Given the description of an element on the screen output the (x, y) to click on. 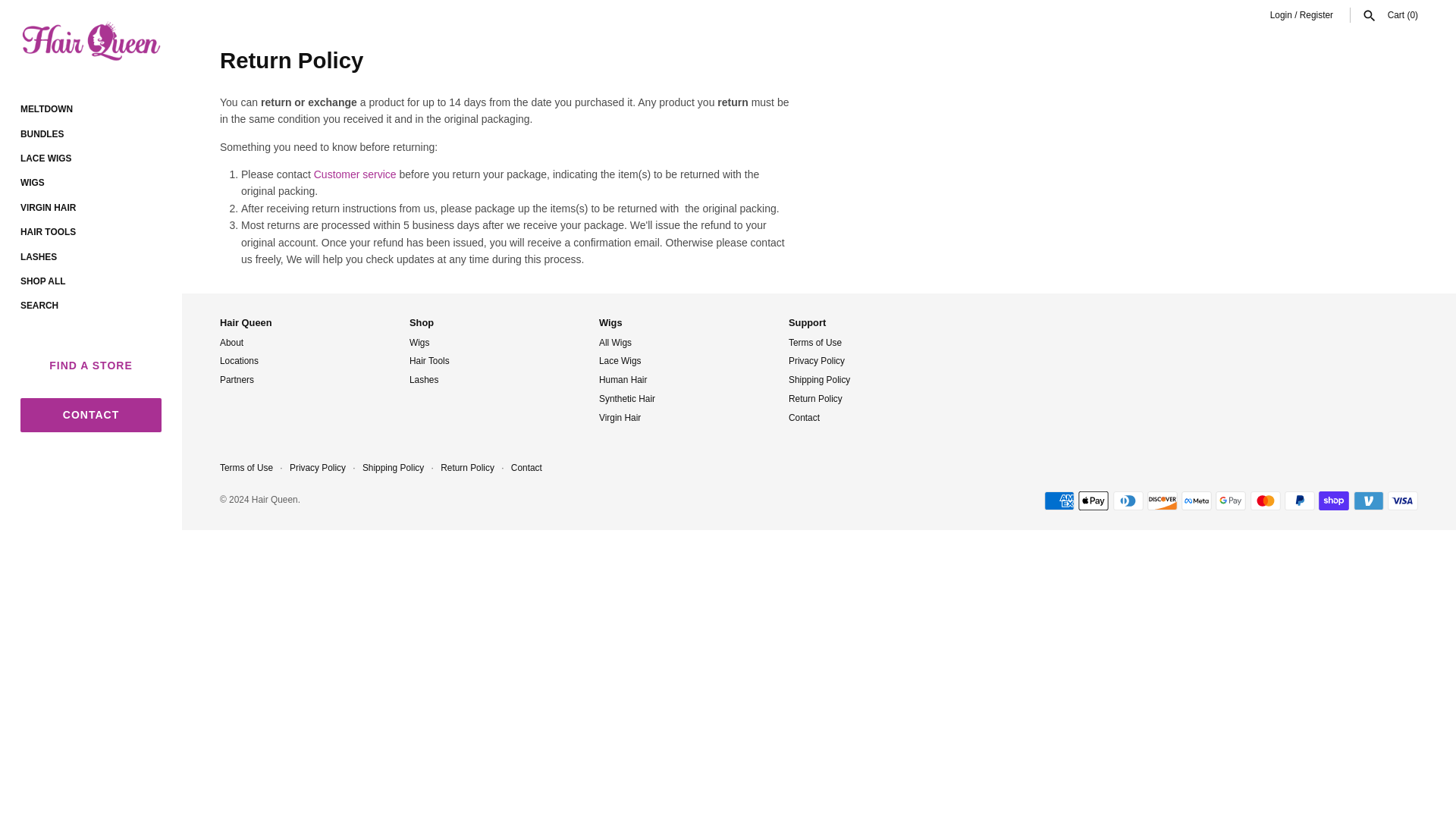
About (231, 342)
Contact us (355, 174)
FIND A STORE (90, 365)
Diners Club (1127, 500)
CONTACT (90, 415)
Customer service (355, 174)
Google Pay (1230, 500)
SHOP ALL (90, 281)
Mastercard (1265, 500)
HAIR TOOLS (90, 232)
Venmo (1369, 500)
Search (1369, 15)
Visa (1402, 500)
BUNDLES (90, 134)
PayPal (1299, 500)
